Given the description of an element on the screen output the (x, y) to click on. 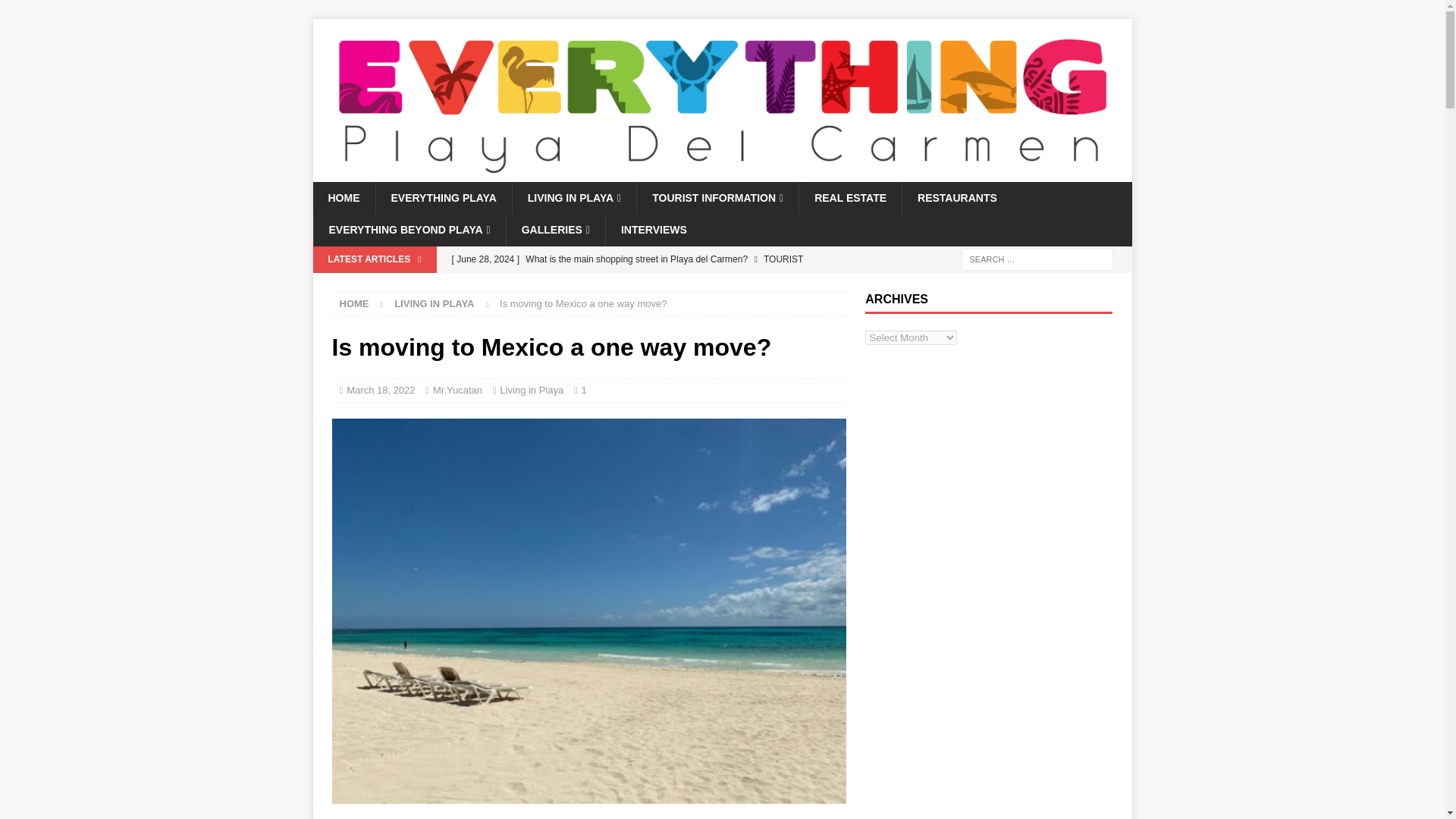
HOME (343, 197)
Home (354, 303)
LIVING IN PLAYA (574, 197)
Everything Playa Del Carmen (722, 173)
What is the main shopping street in Playa del Carmen? (644, 272)
Living in Playa (434, 303)
EVERYTHING PLAYA (442, 197)
